Given the description of an element on the screen output the (x, y) to click on. 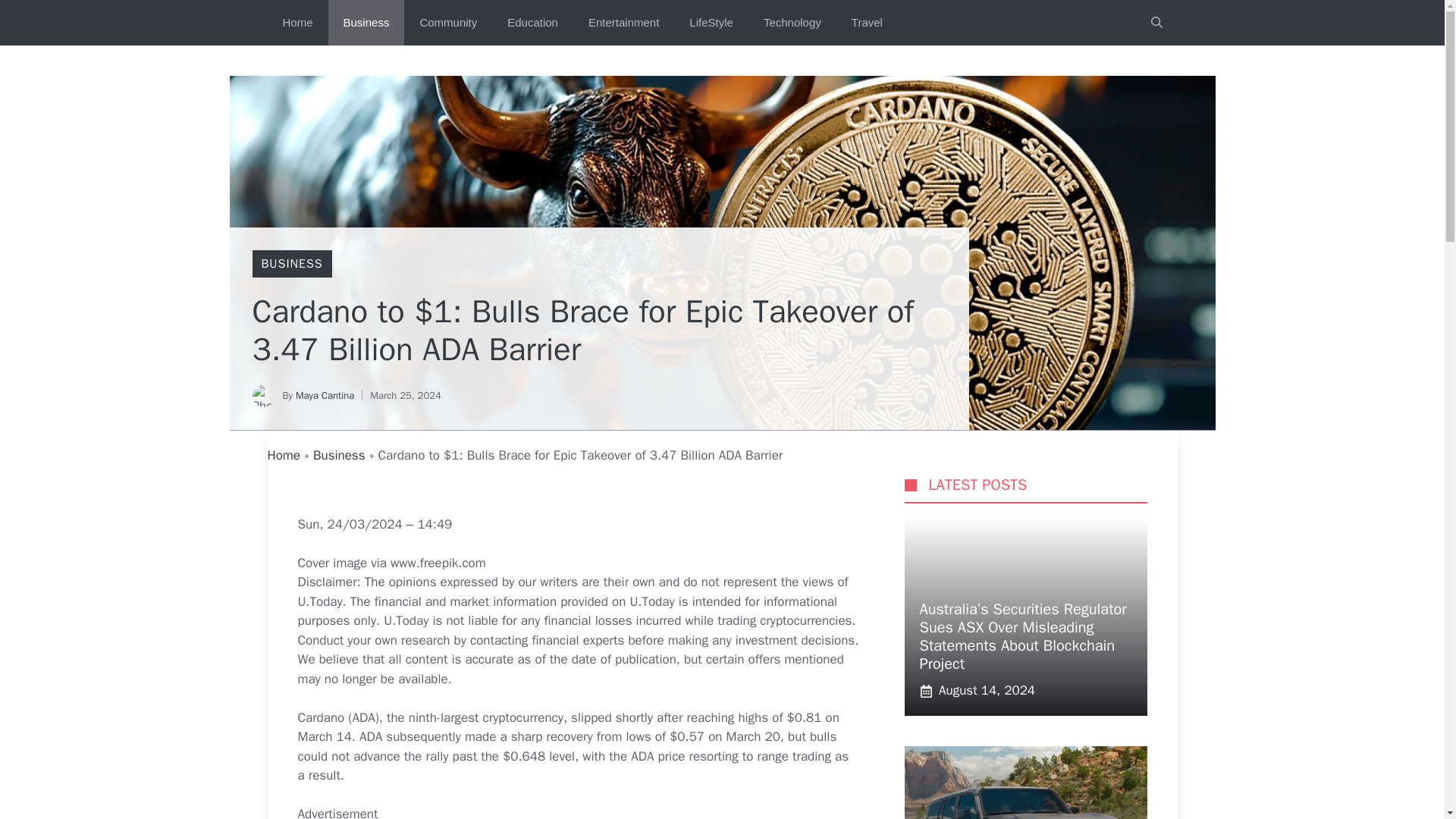
Entertainment (623, 22)
Business (339, 455)
BUSINESS (290, 263)
Home (296, 22)
Travel (866, 22)
Technology (791, 22)
Business (366, 22)
LifeStyle (711, 22)
Community (448, 22)
Education (532, 22)
